Given the description of an element on the screen output the (x, y) to click on. 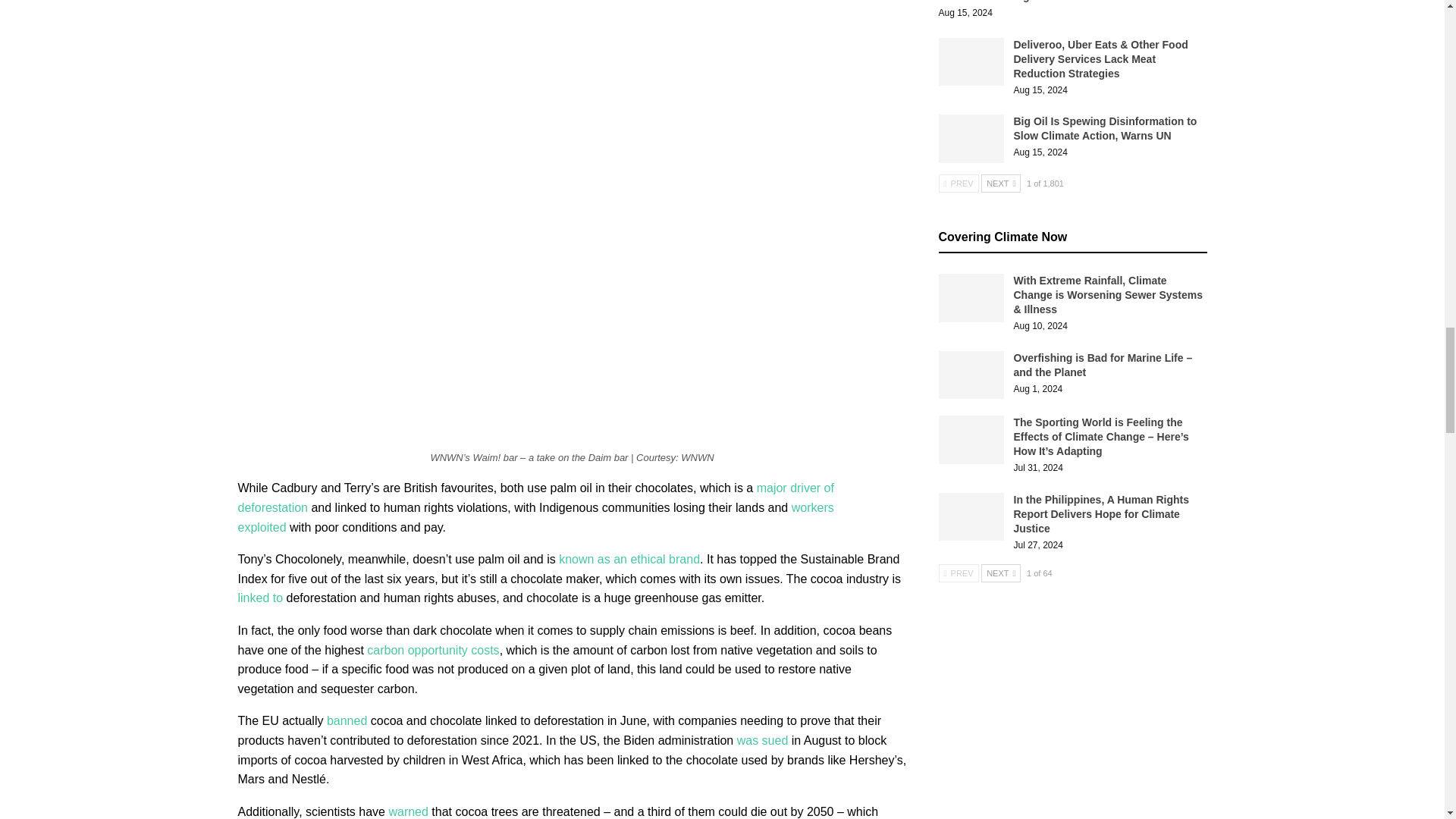
workers exploited (536, 517)
banned (346, 720)
carbon opportunity costs (432, 649)
major driver of deforestation (536, 497)
linked to (260, 597)
known as an ethical brand (629, 558)
